Given the description of an element on the screen output the (x, y) to click on. 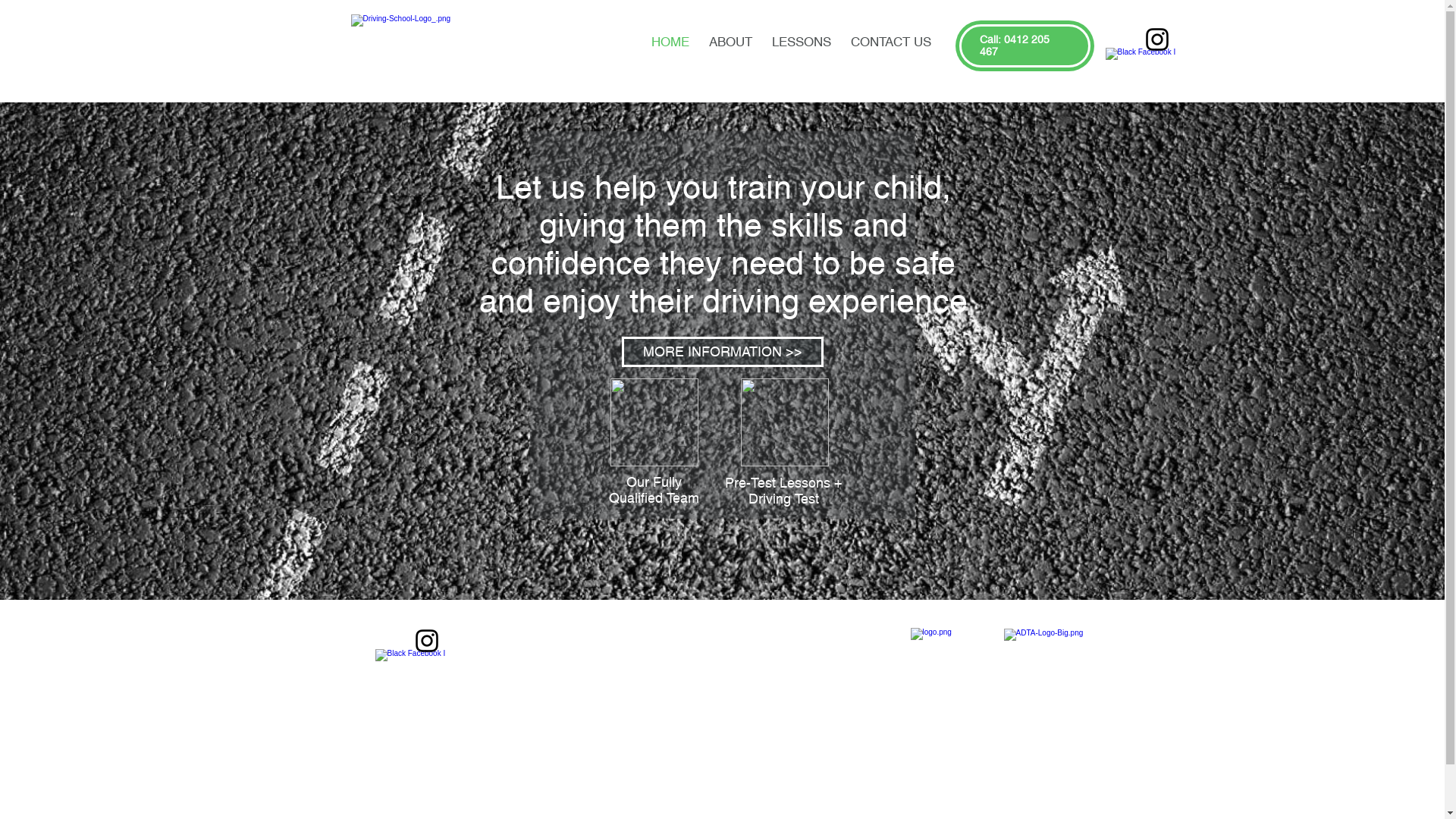
MORE INFORMATION >> Element type: text (722, 351)
Pre-Test Lessons + Driving Test Element type: text (783, 490)
ABOUT Element type: text (730, 39)
HOME Element type: text (670, 39)
Qualified Team Element type: text (653, 497)
Our Fully Element type: text (653, 481)
CONTACT US Element type: text (890, 39)
LESSONS Element type: text (800, 39)
